Given the description of an element on the screen output the (x, y) to click on. 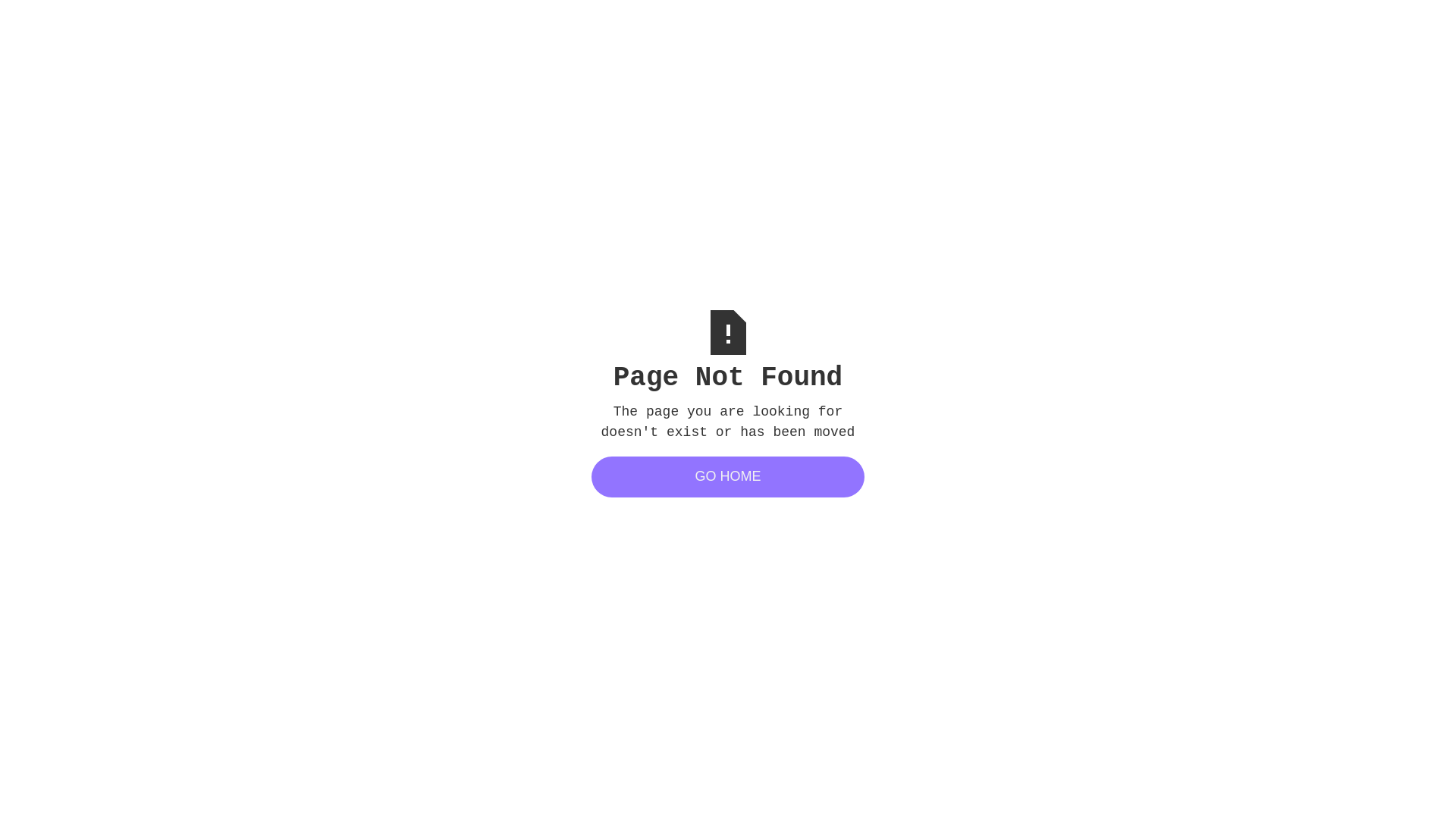
GO HOME Element type: text (727, 476)
